Given the description of an element on the screen output the (x, y) to click on. 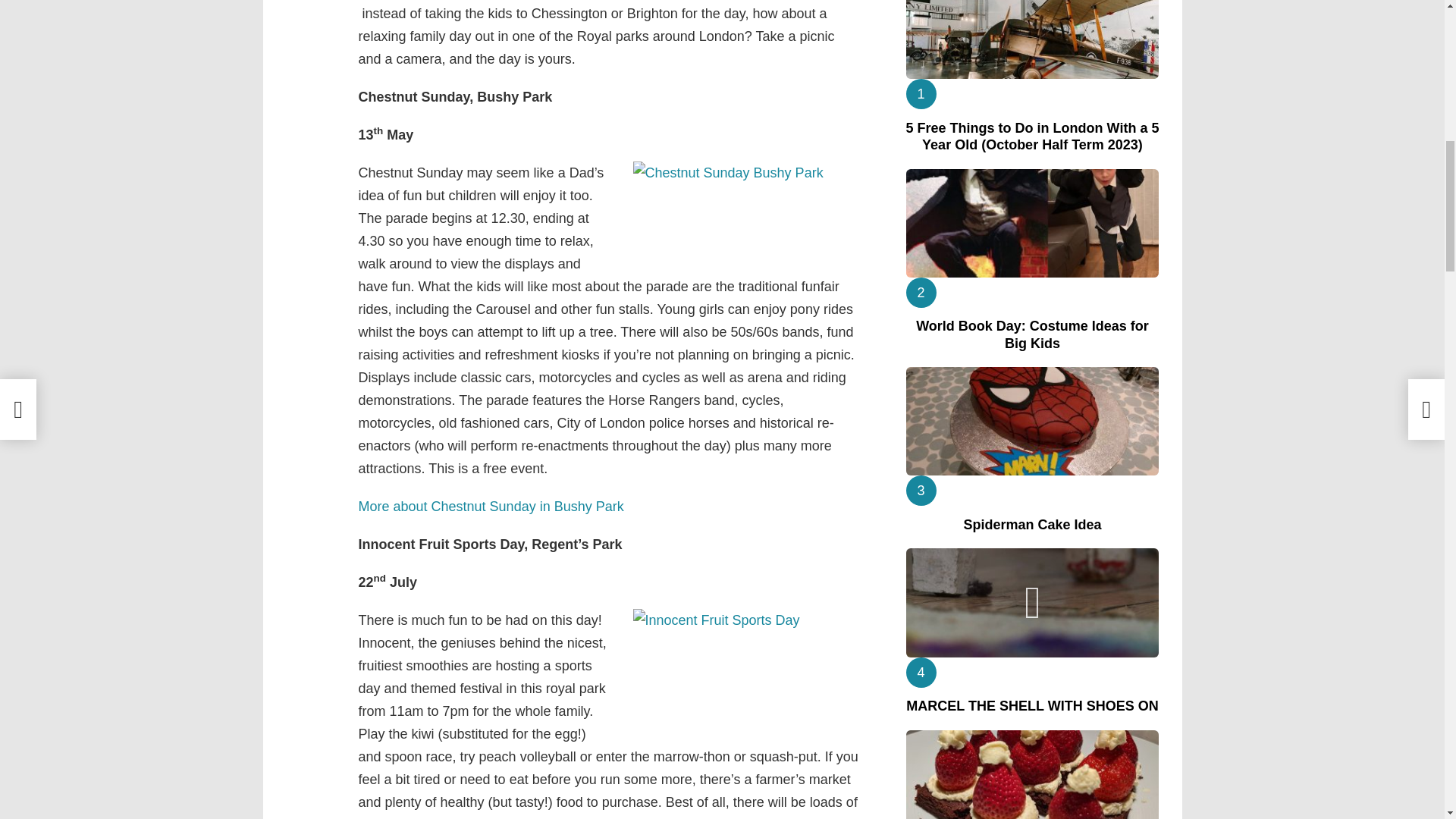
More about Chestnut Sunday in Bushy Park (490, 506)
Chestnut Sunday (745, 202)
Chestnut Sunday (490, 506)
Innocent Fruit Sports Day (745, 669)
